Given the description of an element on the screen output the (x, y) to click on. 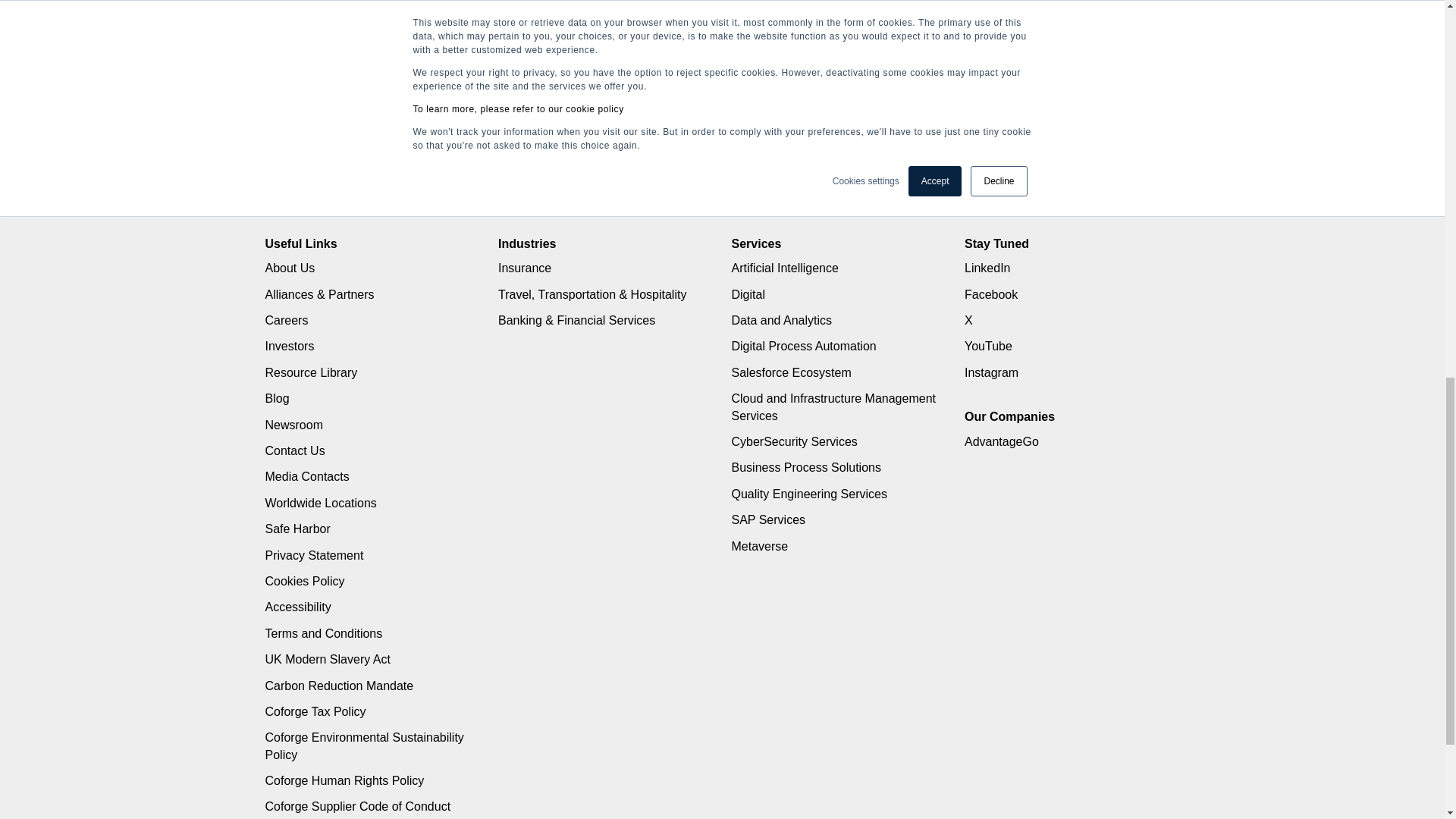
Instagram (990, 372)
AdvantageGo (1001, 440)
LinkedIn (986, 267)
Facebook (990, 294)
YouTube (987, 345)
